Given the description of an element on the screen output the (x, y) to click on. 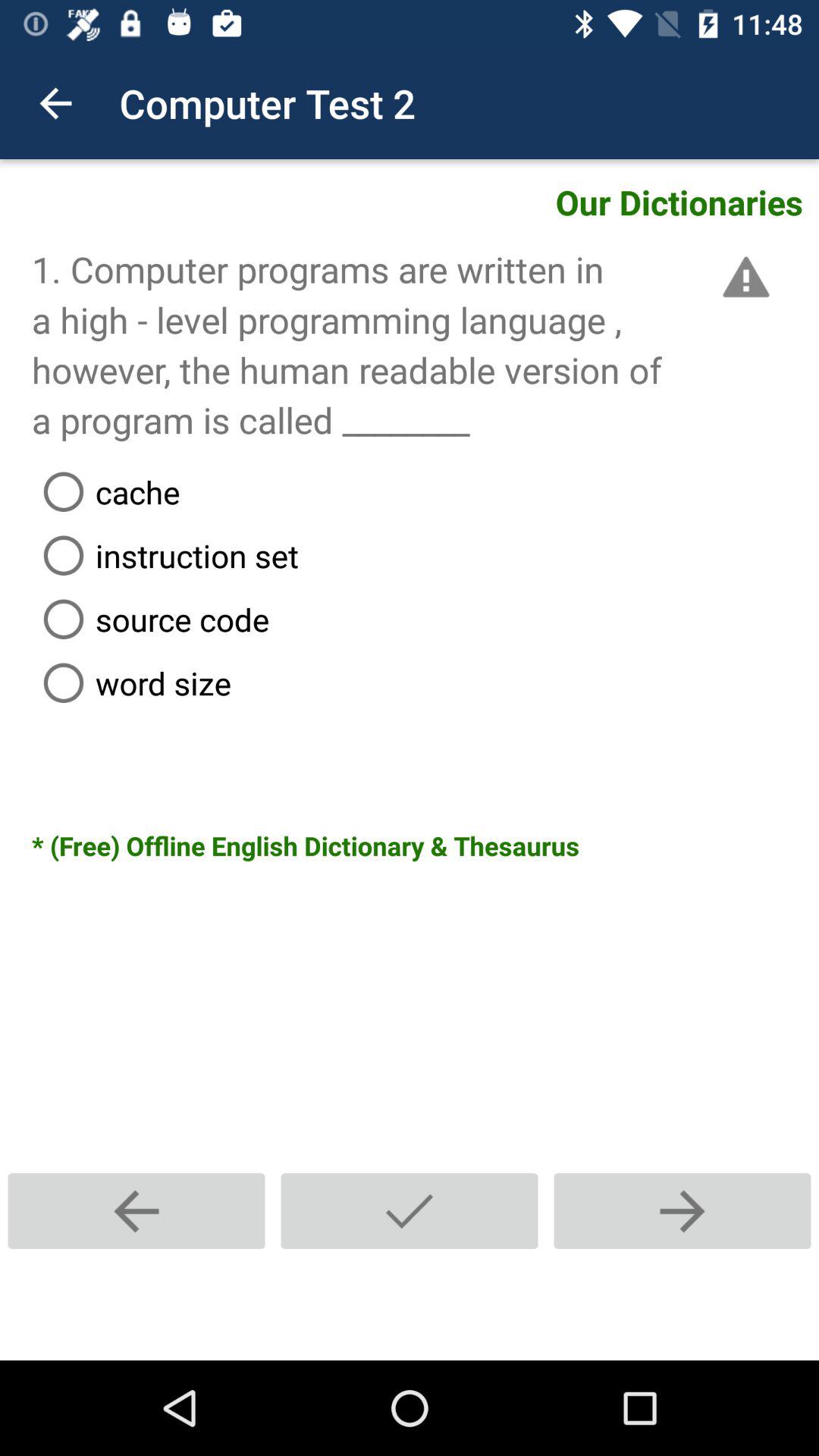
submit (409, 1210)
